Given the description of an element on the screen output the (x, y) to click on. 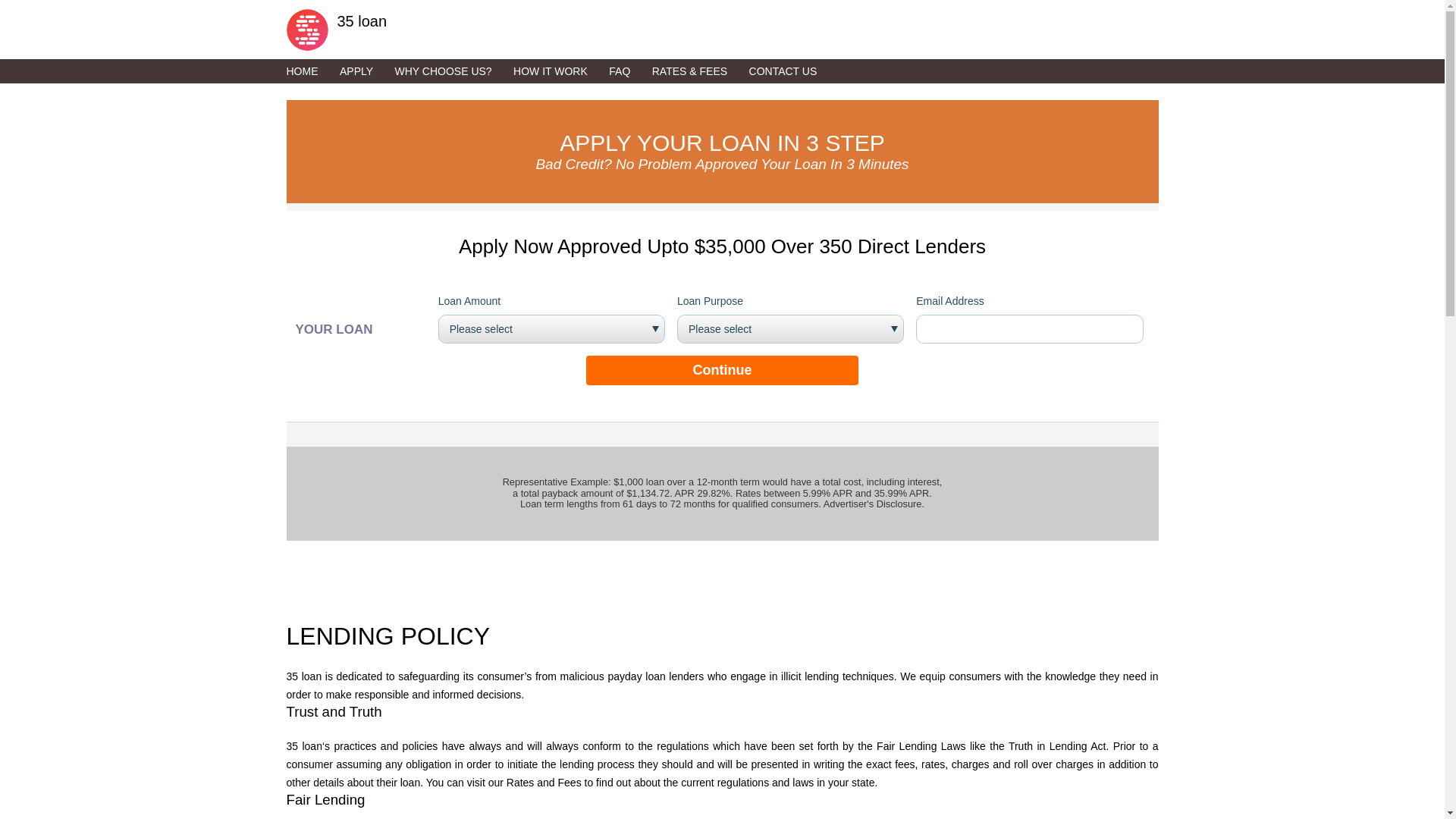
Continue Element type: text (722, 370)
RATES & FEES Element type: text (698, 71)
HOME Element type: text (311, 71)
CONTACT US Element type: text (792, 71)
HOW IT WORK Element type: text (559, 71)
35 loan Element type: text (722, 25)
WHY CHOOSE US? Element type: text (452, 71)
FAQ Element type: text (628, 71)
APPLY Element type: text (365, 71)
